Given the description of an element on the screen output the (x, y) to click on. 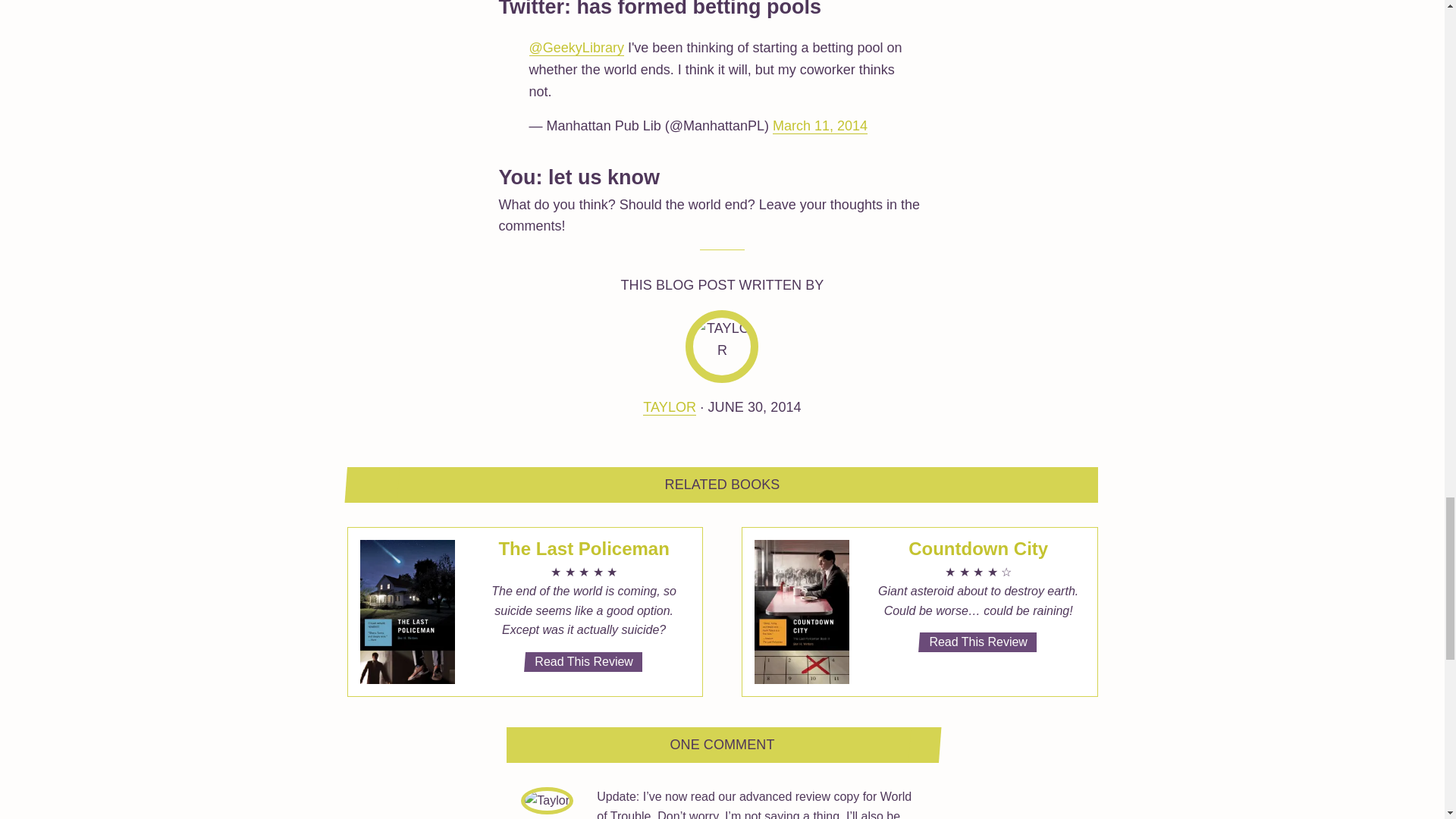
Mon, 30 Jun 2014 08:36:52 -0700 (753, 406)
March 11, 2014 (820, 125)
Posts by Taylor (669, 407)
TAYLOR (669, 407)
